Given the description of an element on the screen output the (x, y) to click on. 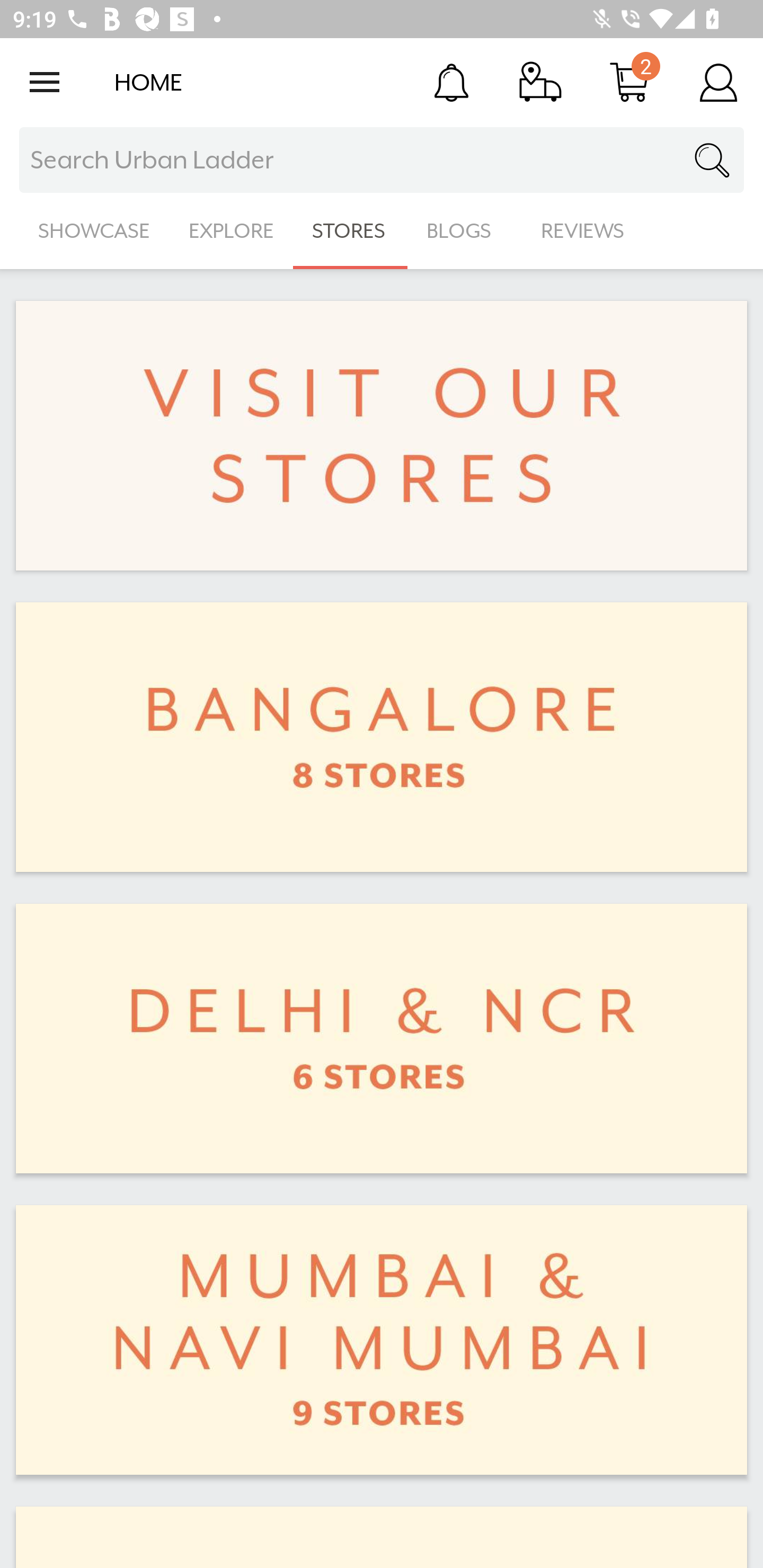
Open navigation drawer (44, 82)
Notification (450, 81)
Track Order (540, 81)
Cart (629, 81)
Account Details (718, 81)
Search Urban Ladder  (381, 159)
SHOWCASE (94, 230)
EXPLORE (230, 230)
STORES (349, 230)
BLOGS (464, 230)
REVIEWS (582, 230)
